Given the description of an element on the screen output the (x, y) to click on. 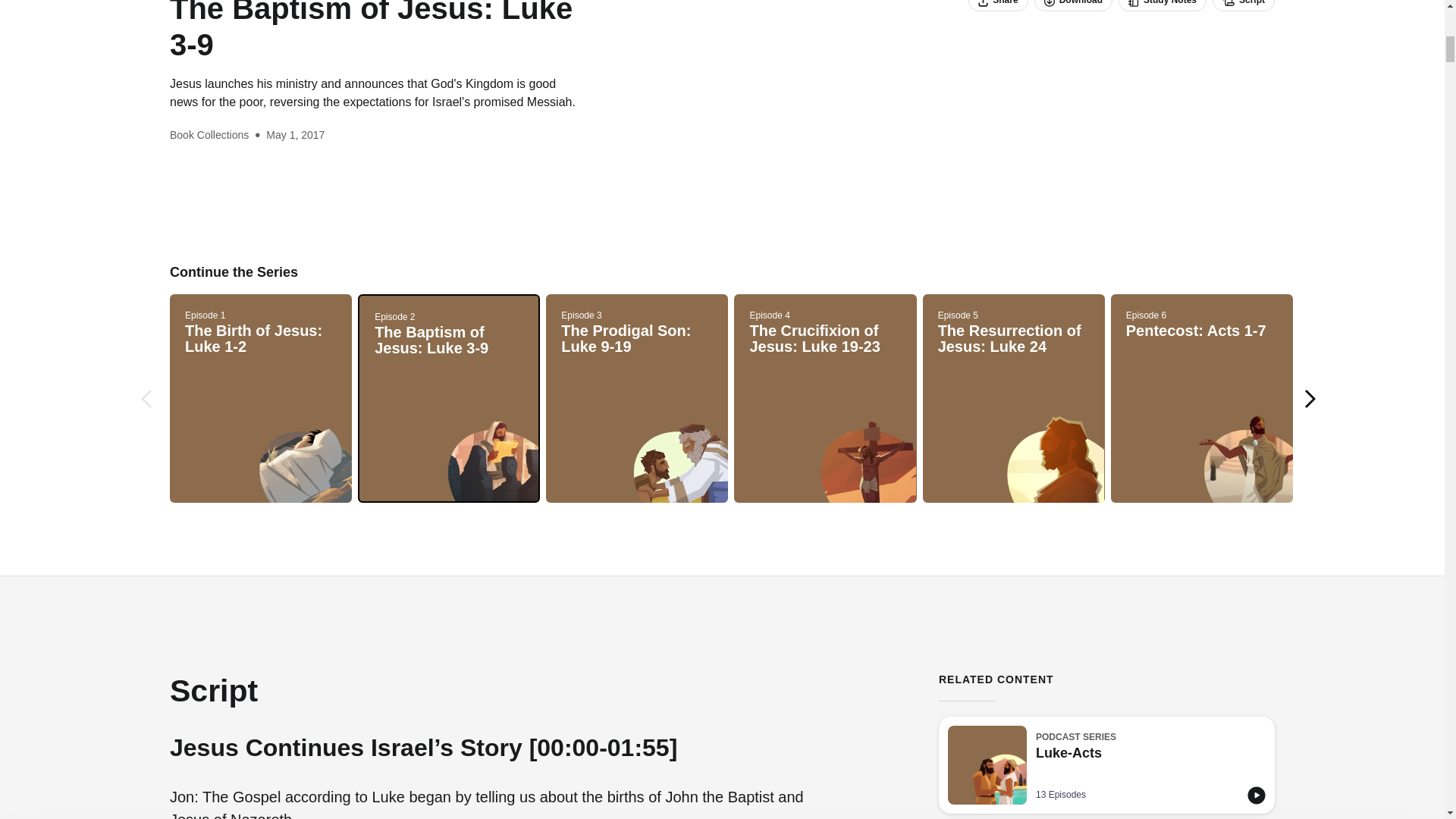
Share (997, 5)
Script (1107, 765)
Study Notes (1243, 5)
Download (1162, 5)
